Given the description of an element on the screen output the (x, y) to click on. 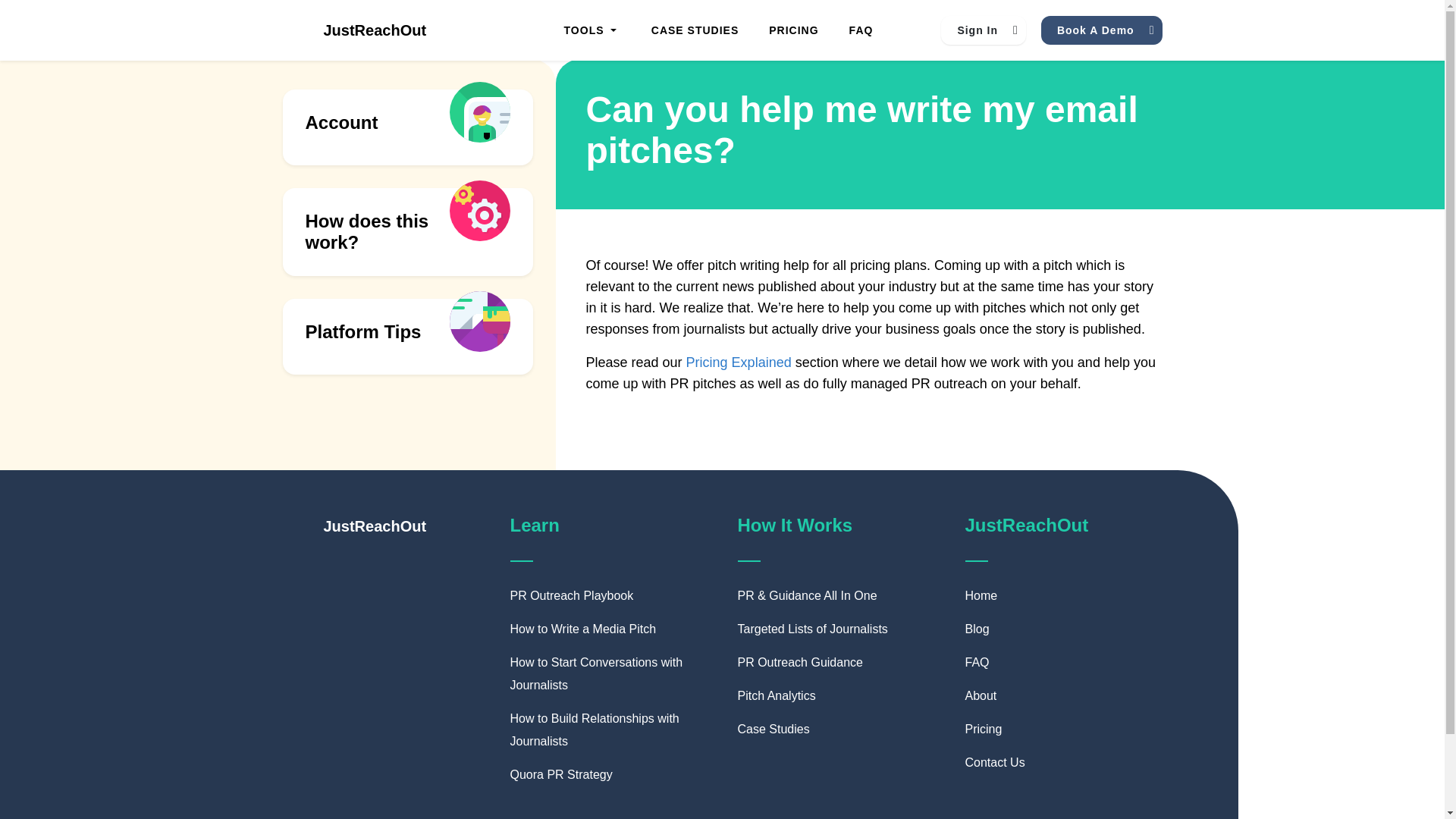
CASE STUDIES (694, 29)
Sign In (983, 30)
FAQ (860, 29)
PRICING (793, 29)
JustReachOut (354, 30)
Book A Demo (1101, 30)
TOOLS (590, 29)
